Given the description of an element on the screen output the (x, y) to click on. 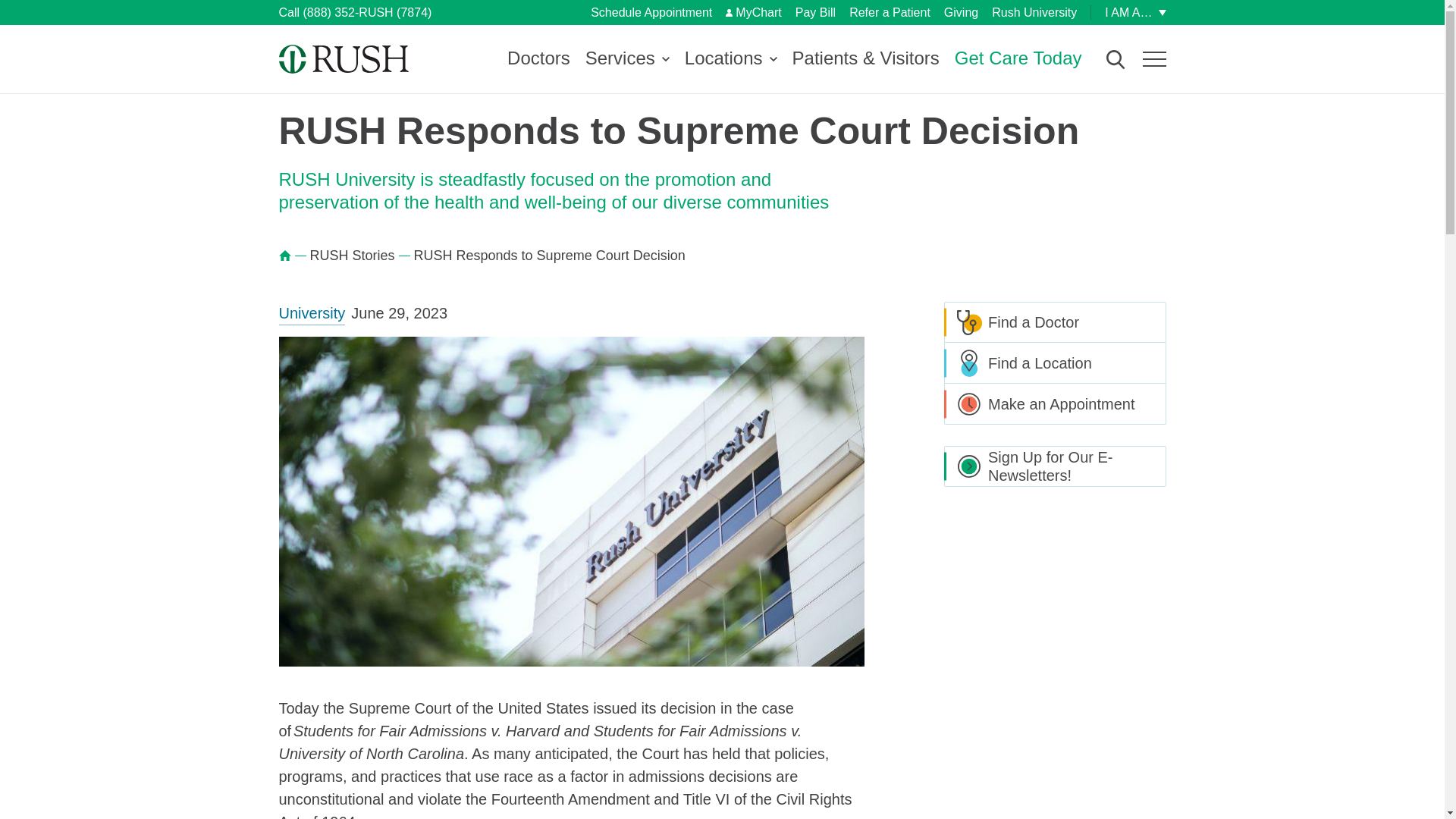
MyChart (752, 11)
Schedule Appointment (651, 11)
Giving (960, 11)
Pay Bill (814, 11)
Rush University (1034, 11)
Refer a Patient (889, 11)
